Given the description of an element on the screen output the (x, y) to click on. 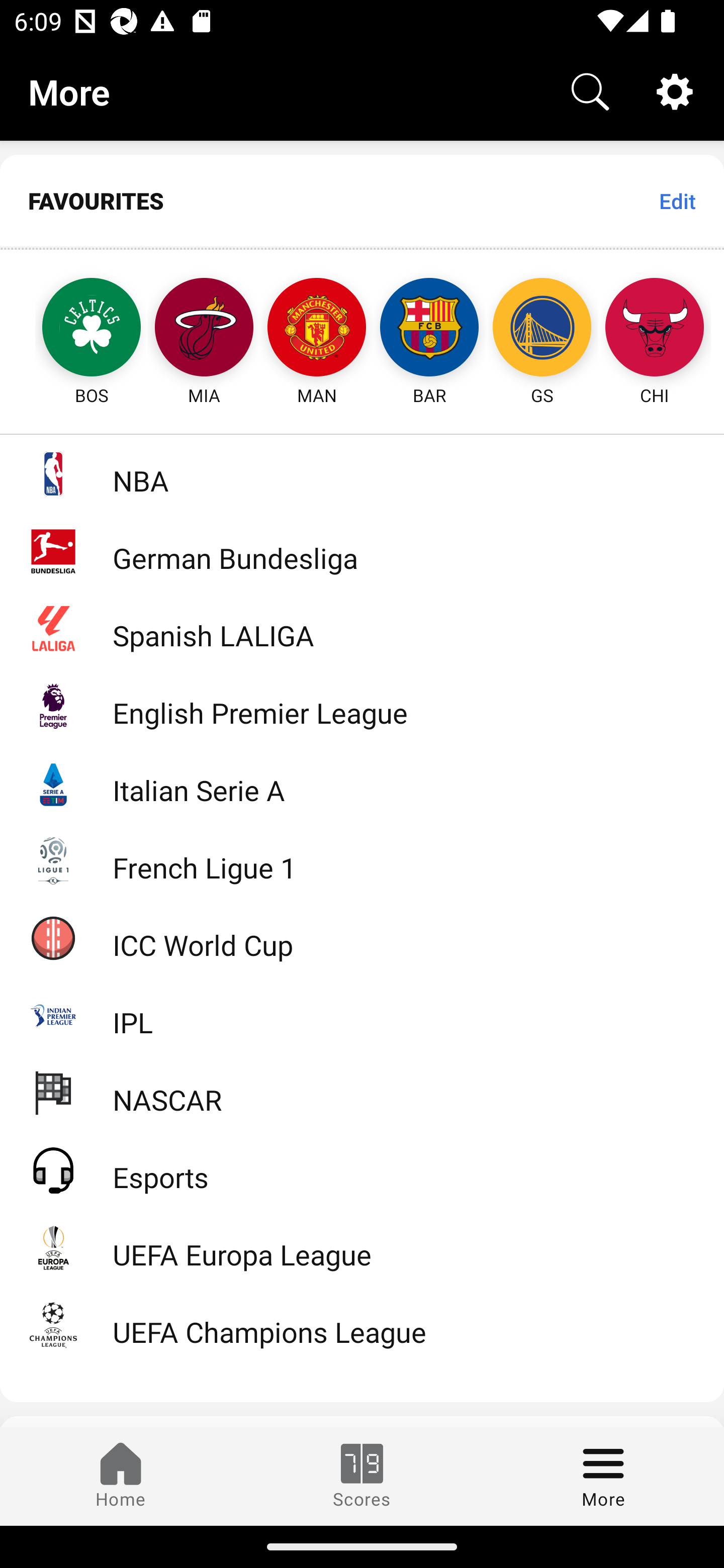
Search (590, 90)
Settings (674, 90)
Edit (676, 200)
BOS Boston Celtics (73, 328)
MIA Miami Heat (203, 328)
MAN Manchester United (316, 328)
BAR Barcelona (428, 328)
GS Golden State Warriors (541, 328)
CHI Chicago Bulls (654, 328)
NBA (362, 473)
German Bundesliga (362, 550)
Spanish LALIGA (362, 627)
English Premier League (362, 705)
Italian Serie A (362, 782)
French Ligue 1 (362, 859)
ICC World Cup (362, 937)
IPL (362, 1014)
NASCAR (362, 1091)
Esports (362, 1169)
UEFA Europa League (362, 1246)
UEFA Champions League (362, 1324)
Home (120, 1475)
Scores (361, 1475)
